Given the description of an element on the screen output the (x, y) to click on. 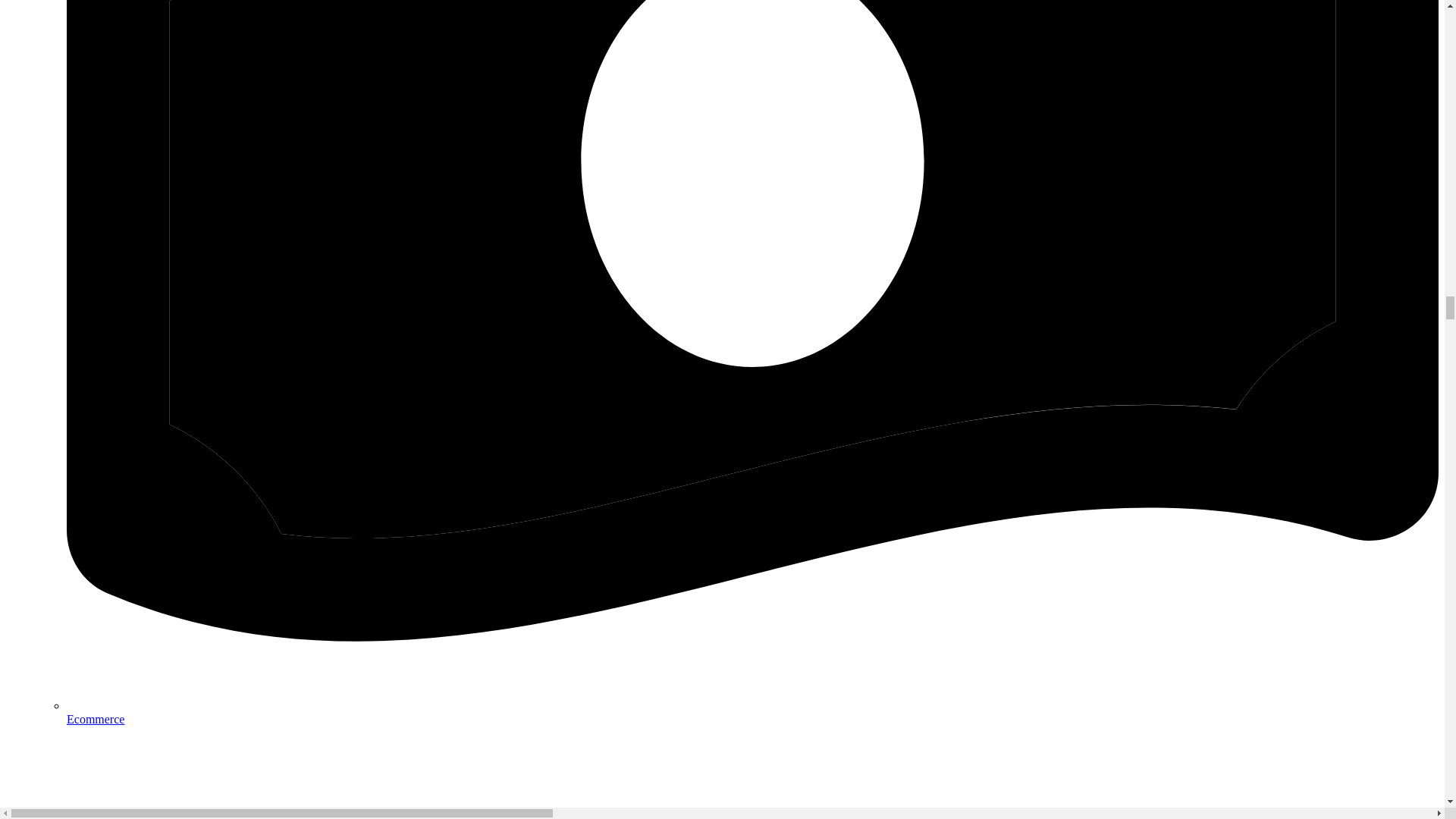
File Sharing (752, 772)
